Given the description of an element on the screen output the (x, y) to click on. 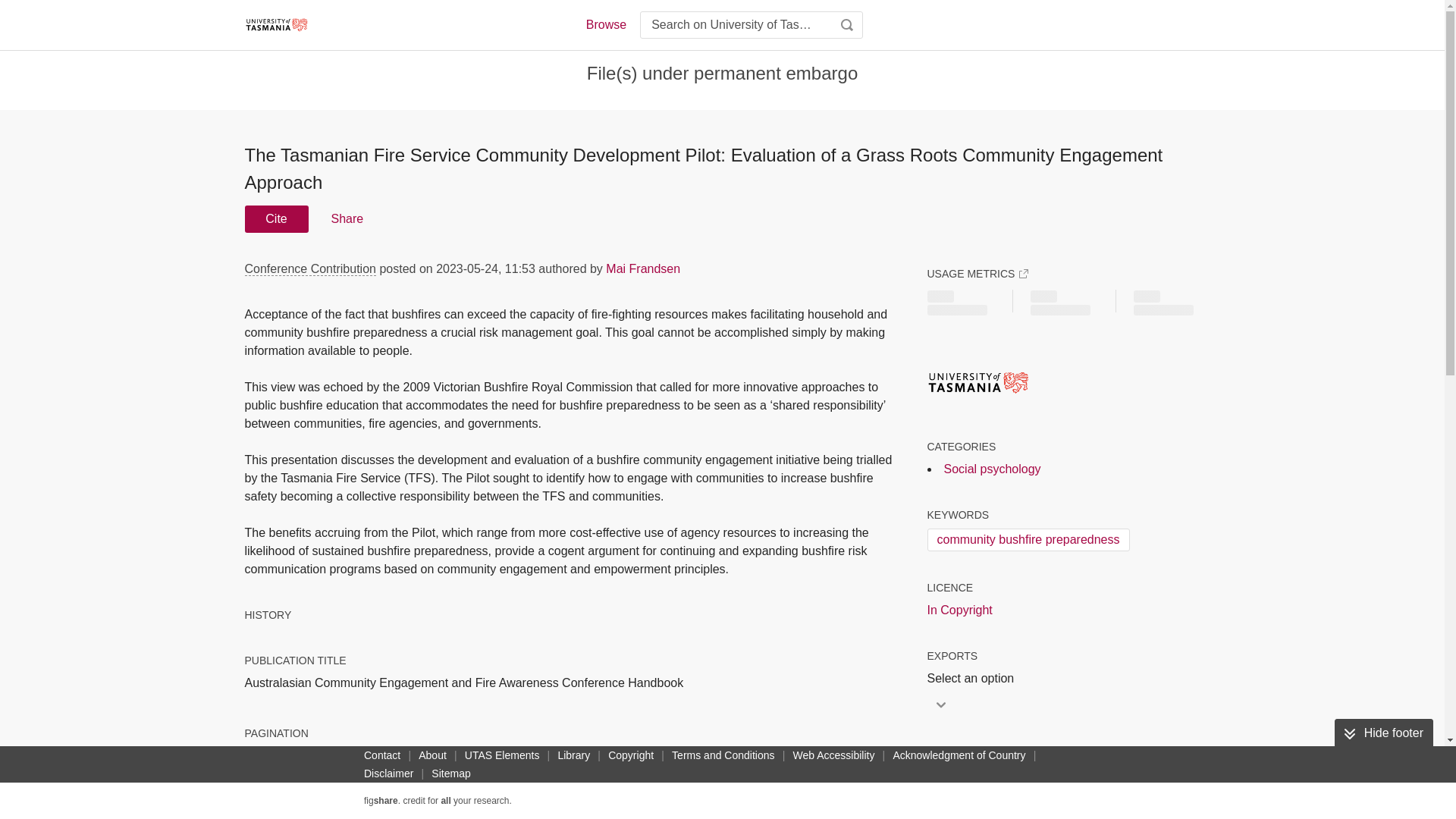
USAGE METRICS (976, 273)
Web Accessibility (834, 755)
Copyright (631, 755)
Disclaimer (388, 773)
UTAS Elements (502, 755)
Share (346, 218)
Sitemap (450, 773)
Terms and Conditions (722, 755)
Contact (381, 755)
About (432, 755)
Mai Frandsen (642, 268)
Cite (275, 218)
community bushfire preparedness (1027, 539)
Select an option (974, 678)
Social psychology (992, 468)
